Given the description of an element on the screen output the (x, y) to click on. 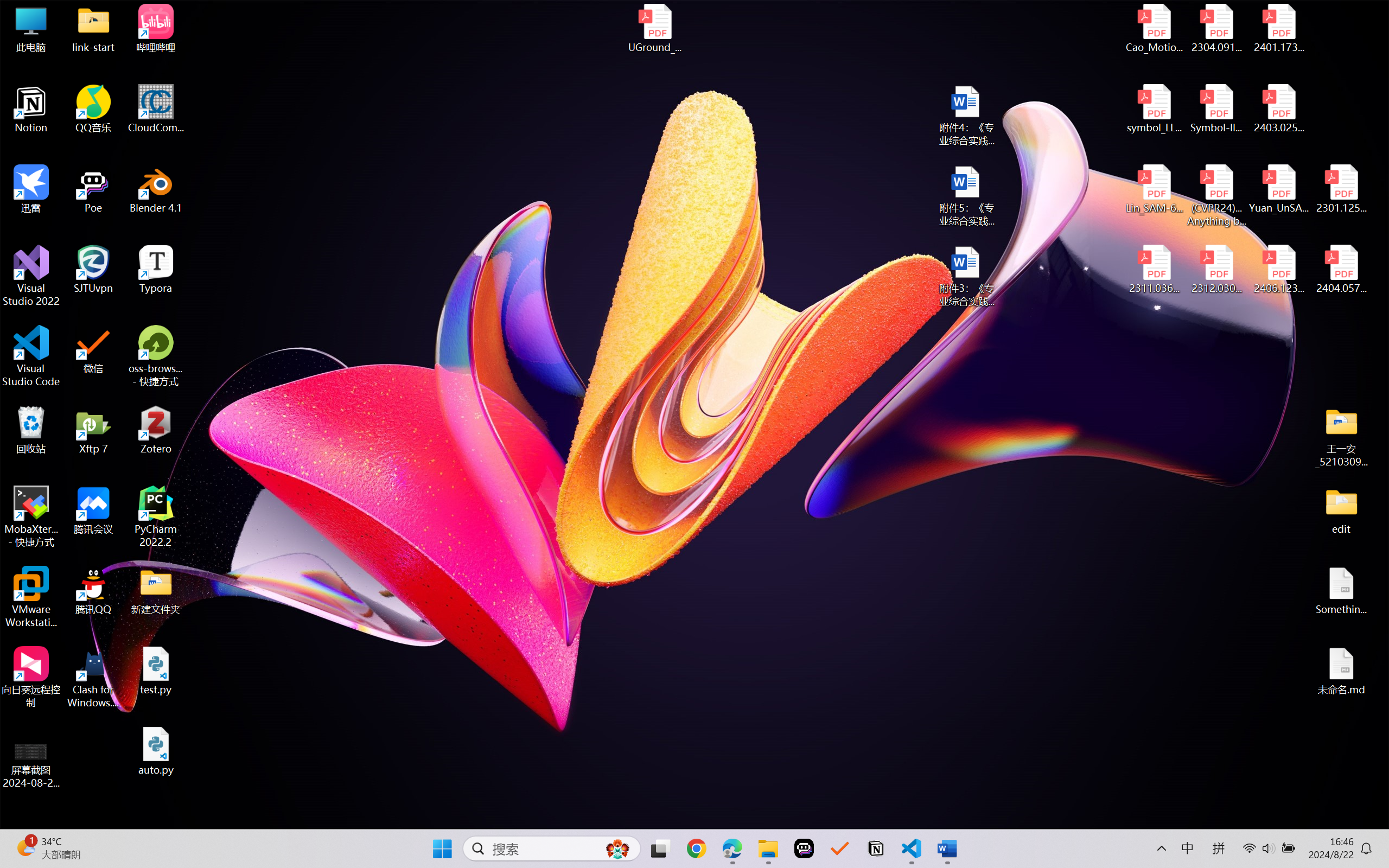
(CVPR24)Matching Anything by Segmenting Anything.pdf (1216, 195)
Something.md (1340, 591)
UGround_paper.pdf (654, 28)
2403.02502v1.pdf (1278, 109)
VMware Workstation Pro (31, 597)
Symbol-llm-v2.pdf (1216, 109)
